Given the description of an element on the screen output the (x, y) to click on. 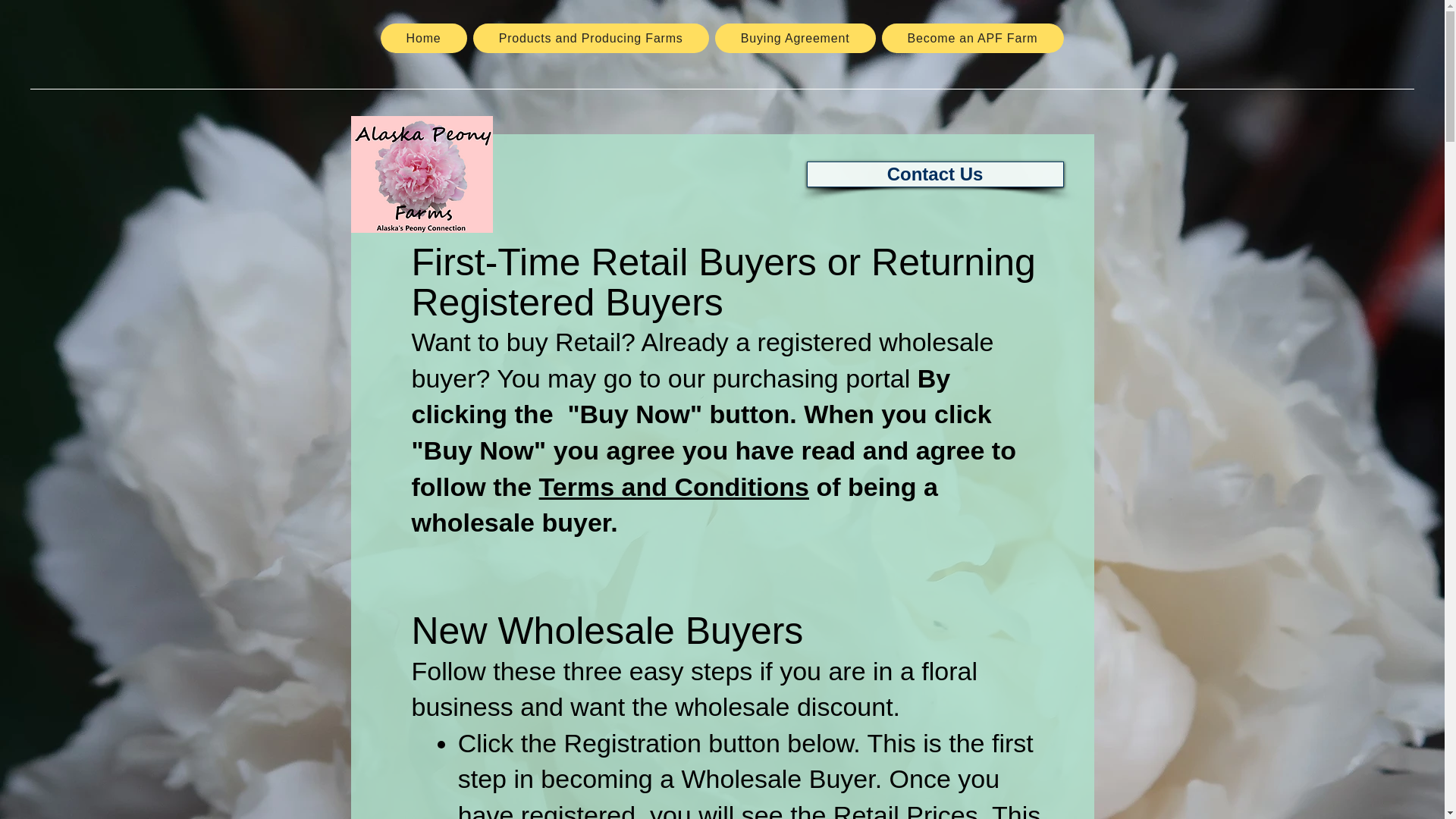
Home (423, 38)
Terms and Conditions (673, 486)
Contact Us (935, 174)
Become an APF Farm (973, 38)
Products and Producing Farms (591, 38)
Buying Agreement (795, 38)
